Given the description of an element on the screen output the (x, y) to click on. 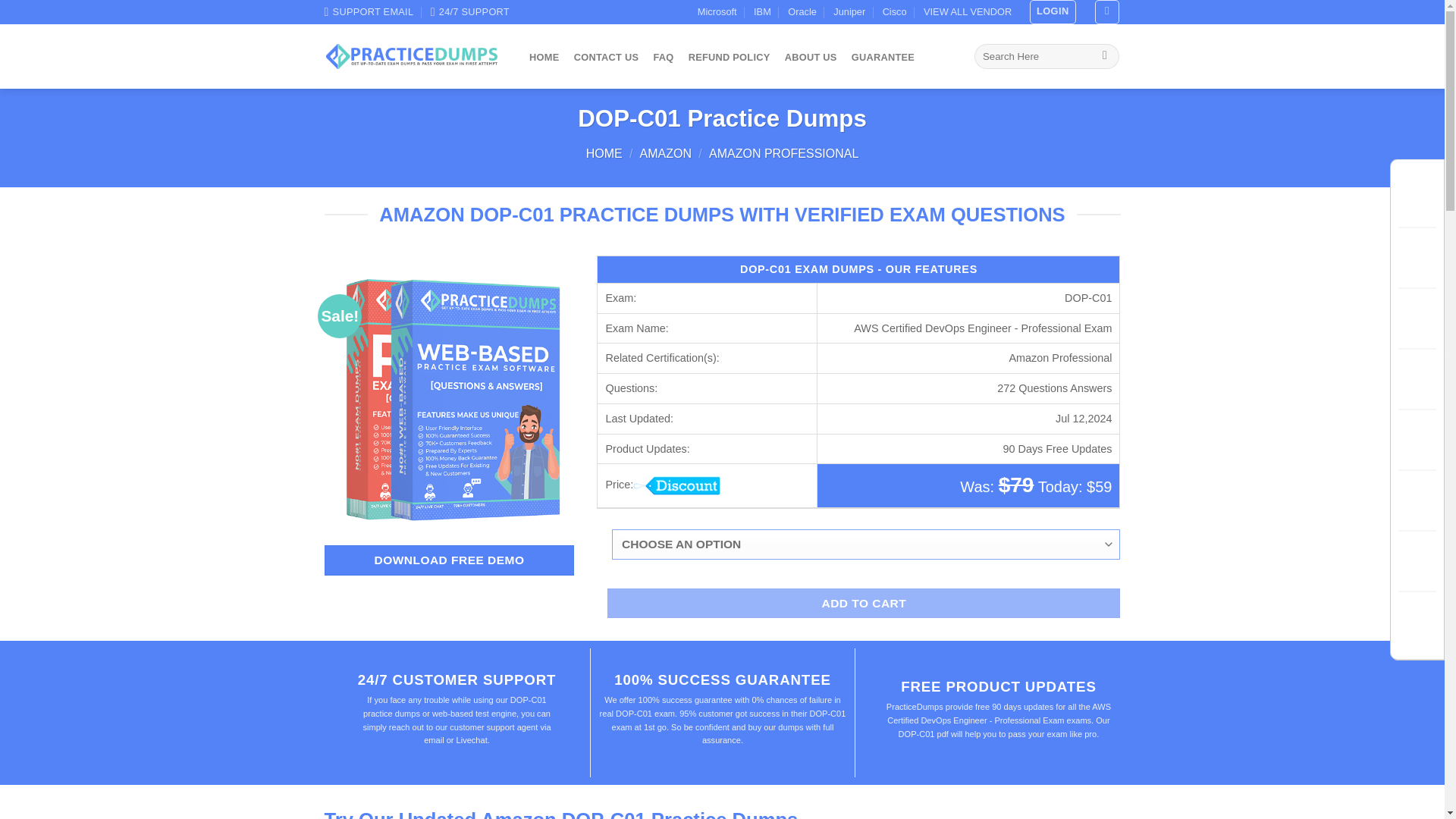
REFUND POLICY (729, 57)
CONTACT US (606, 57)
HOME (543, 57)
Cisco (894, 11)
GUARANTEE (882, 57)
AMAZON (665, 153)
Search (1105, 56)
LOGIN (1052, 12)
PracticeDumps (411, 56)
SUPPORT EMAIL (368, 11)
Microsoft (716, 11)
ABOUT US (810, 57)
Juniper (848, 11)
Oracle (801, 11)
HOME (604, 153)
